Given the description of an element on the screen output the (x, y) to click on. 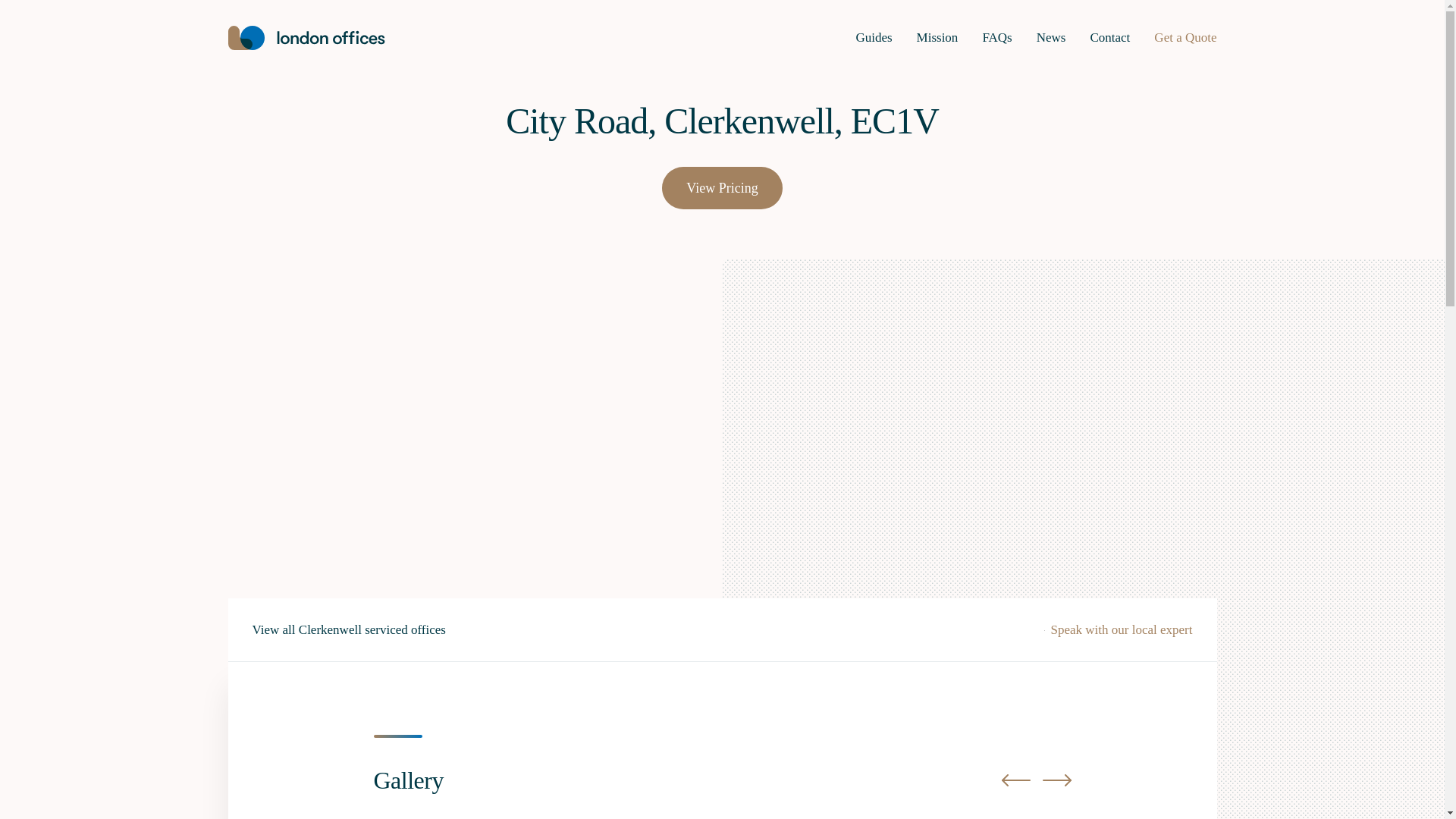
View Pricing (721, 188)
Contact (1109, 37)
FAQs (996, 37)
Speak with our local expert (1117, 630)
Get a Quote (1184, 37)
News (1050, 37)
Mission (937, 37)
Guides (873, 37)
View all Clerkenwell serviced offices (348, 629)
